Given the description of an element on the screen output the (x, y) to click on. 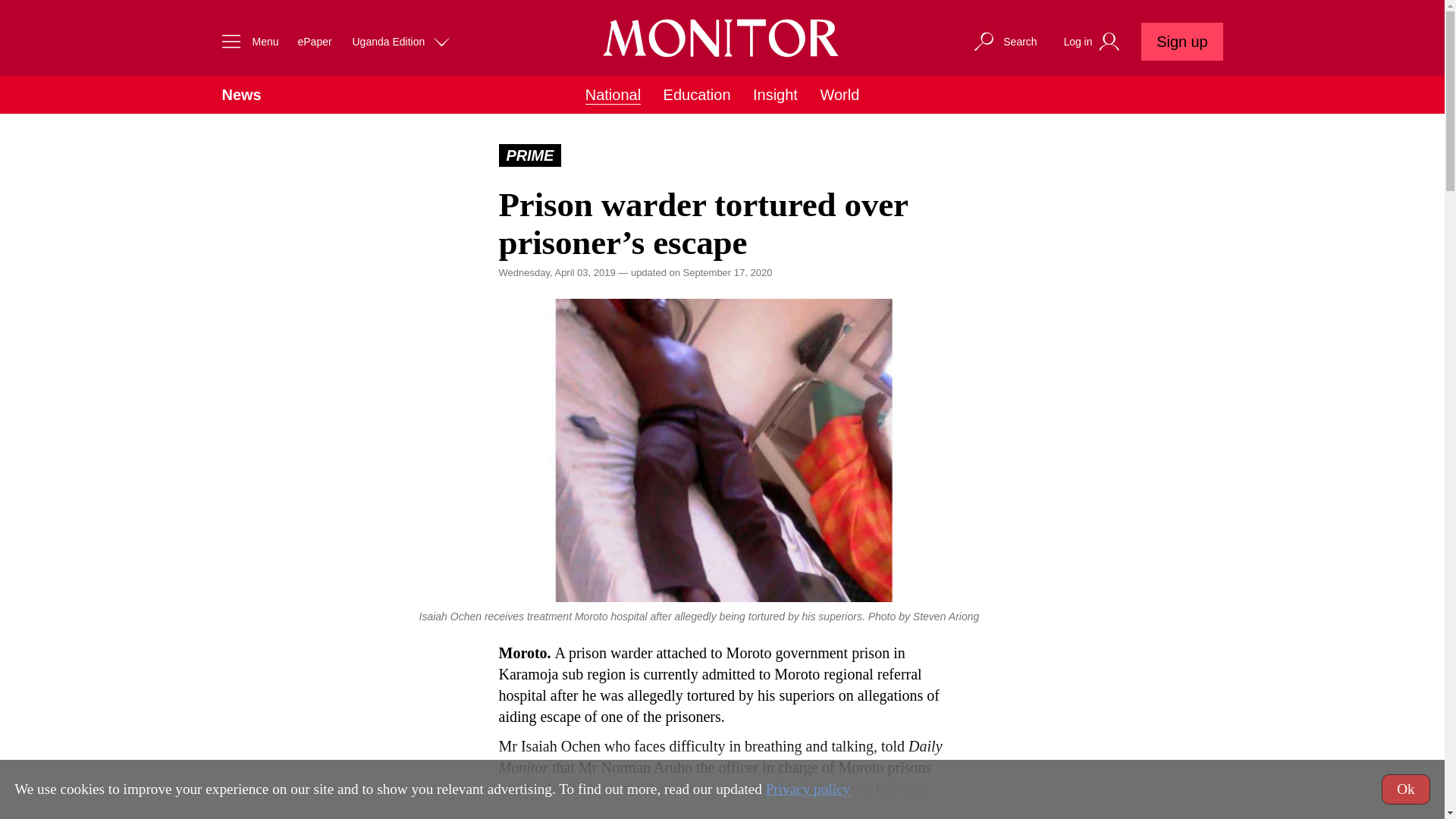
Sign up (1182, 41)
Search (1003, 41)
Log in (1094, 41)
Insight (774, 94)
Privacy policy (807, 788)
News (240, 94)
Privacy policy (807, 788)
Education (696, 94)
Uganda Edition (401, 41)
World (839, 94)
Menu (246, 41)
National (612, 95)
Ok (1405, 788)
ePaper (314, 41)
